Given the description of an element on the screen output the (x, y) to click on. 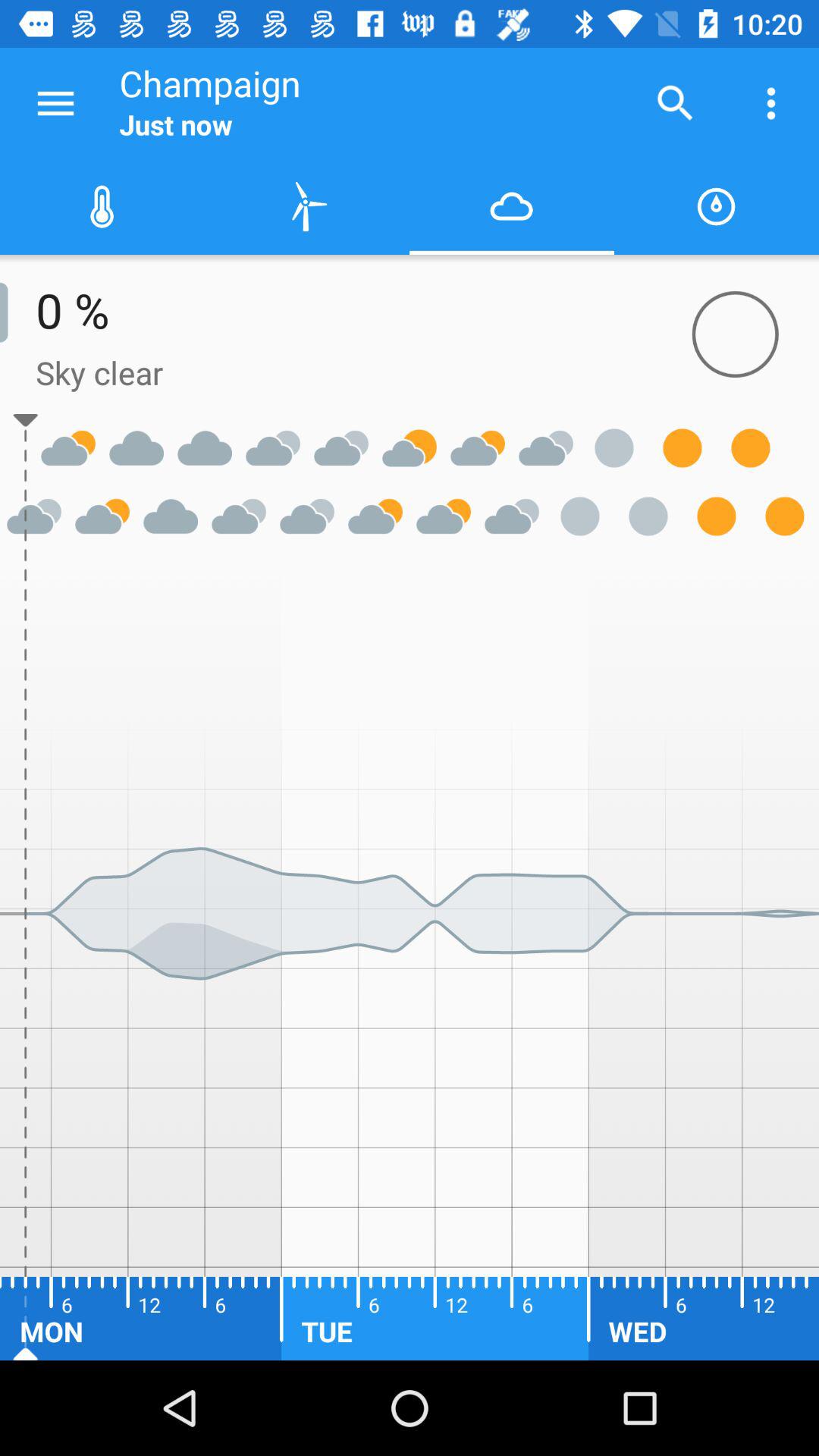
turn off icon next to the champaign item (675, 103)
